Given the description of an element on the screen output the (x, y) to click on. 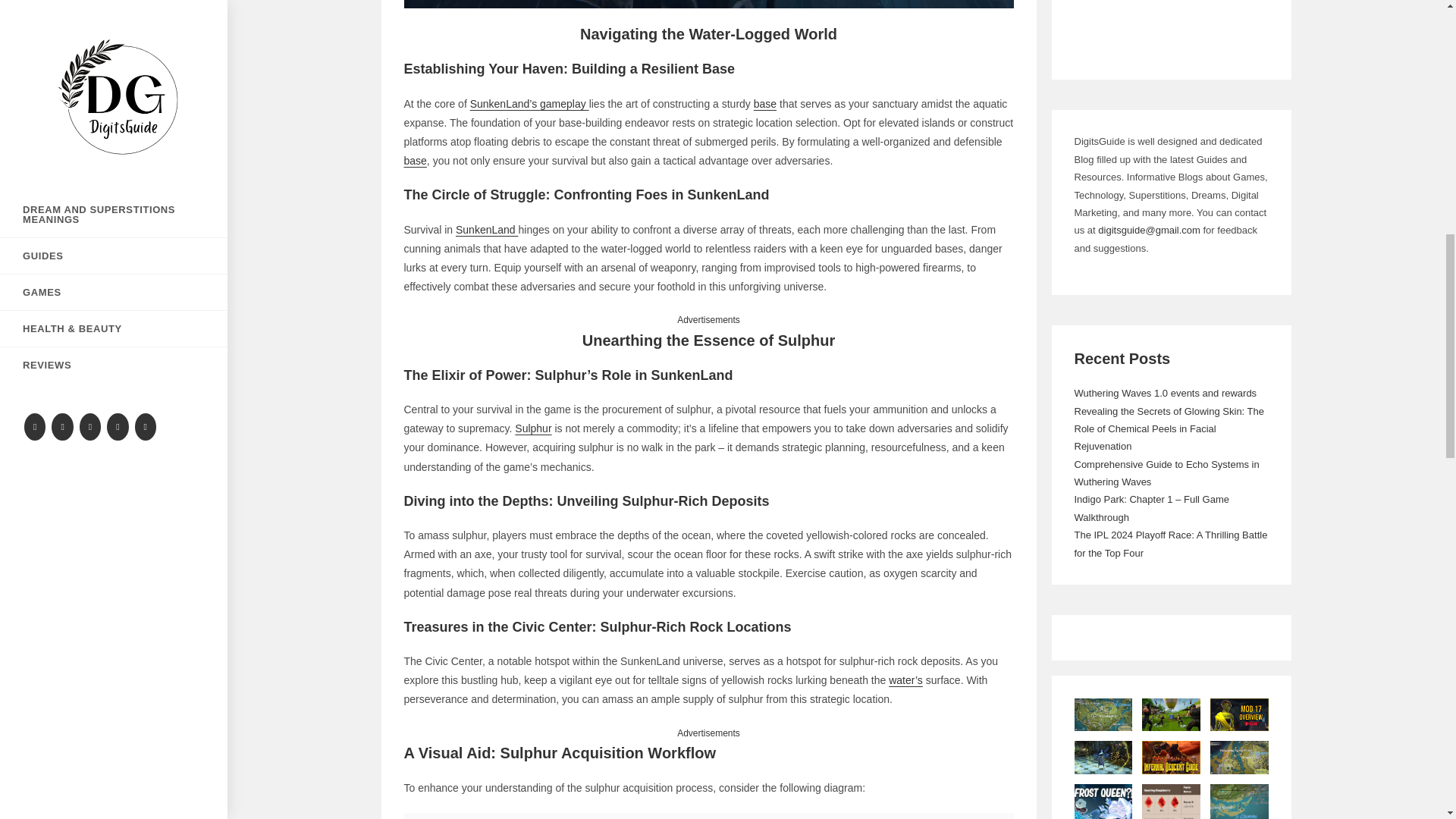
Advertisement (1171, 28)
